Given the description of an element on the screen output the (x, y) to click on. 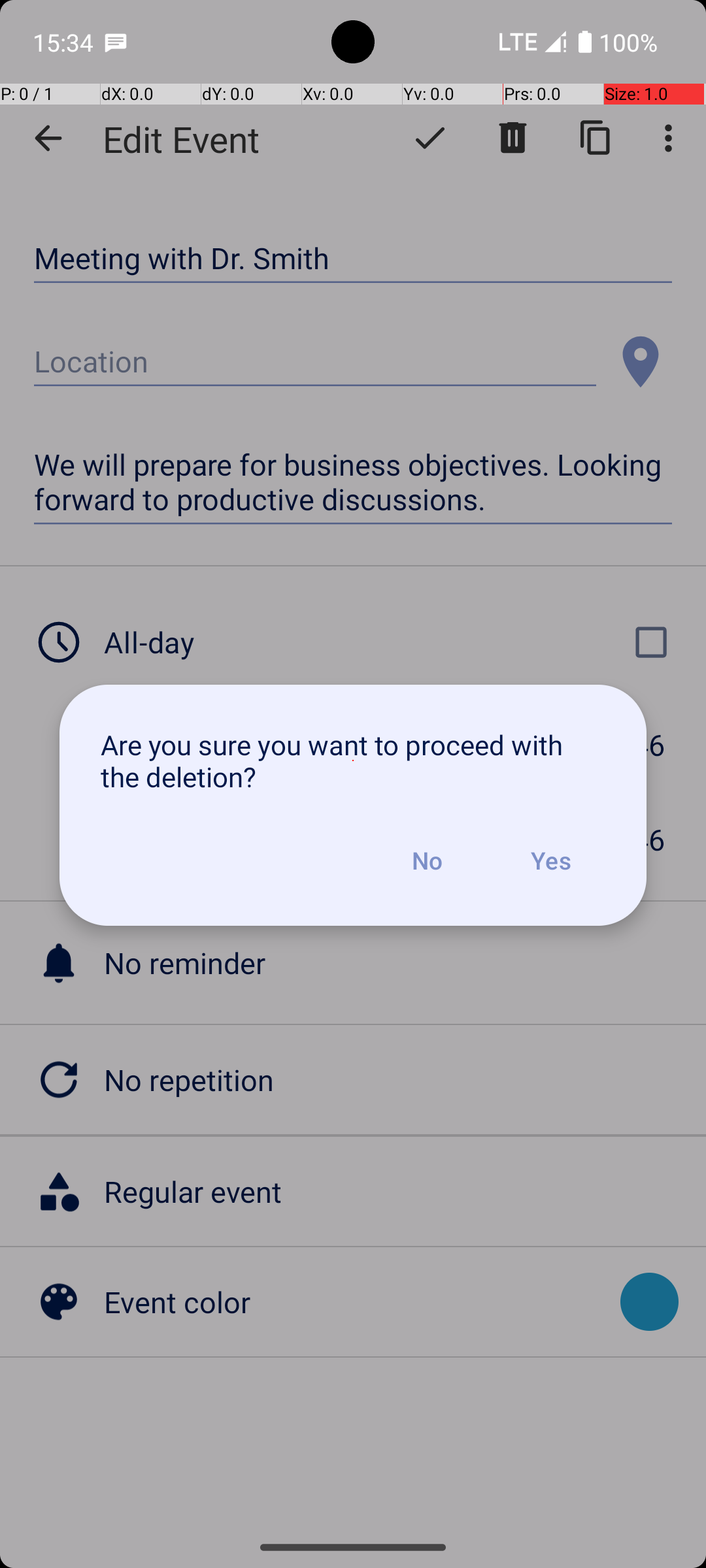
Are you sure you want to proceed with the deletion? Element type: android.widget.TextView (352, 760)
No Element type: android.widget.Button (426, 860)
Yes Element type: android.widget.Button (550, 860)
